Given the description of an element on the screen output the (x, y) to click on. 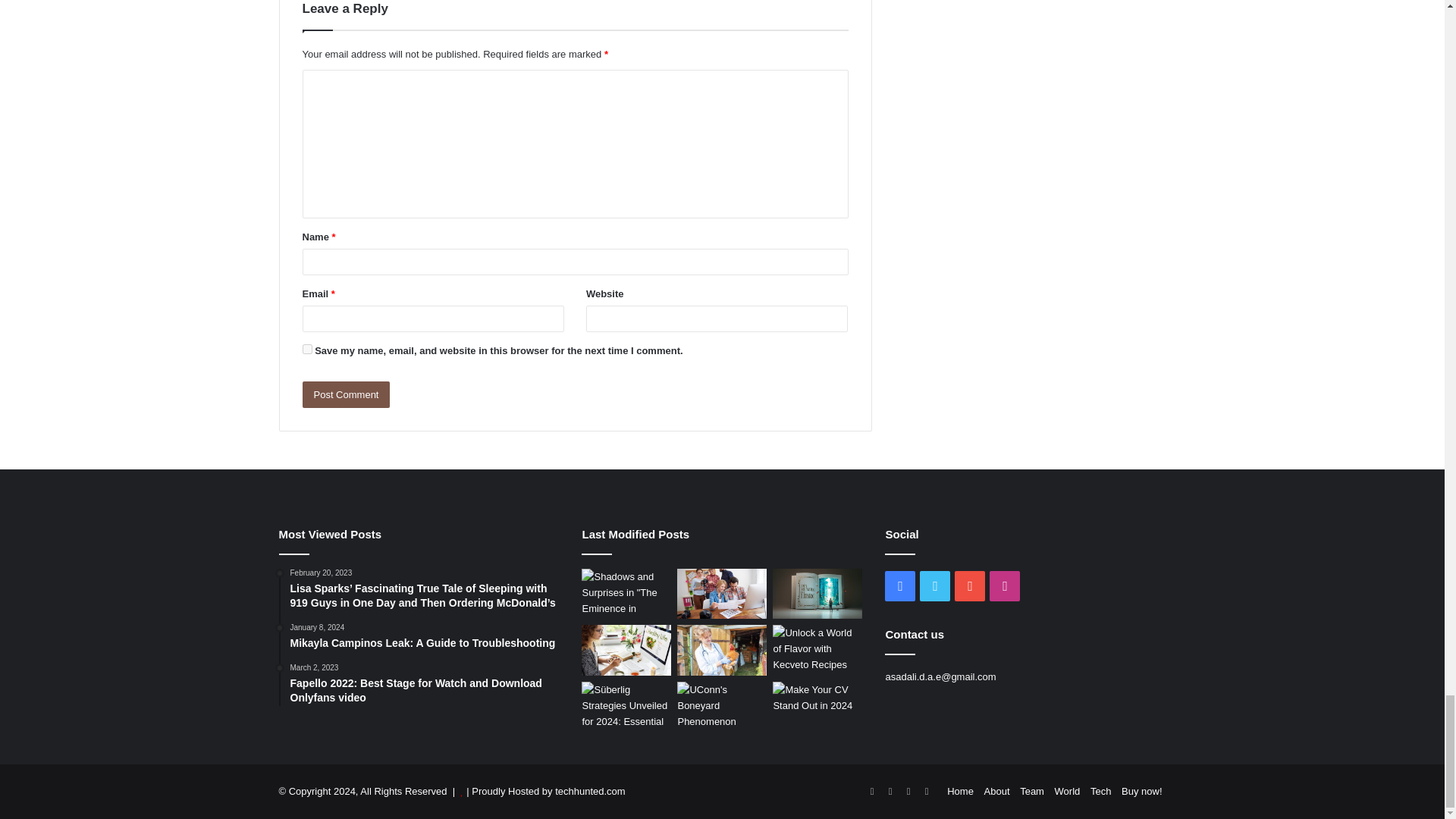
Post Comment (345, 394)
yes (306, 348)
